Given the description of an element on the screen output the (x, y) to click on. 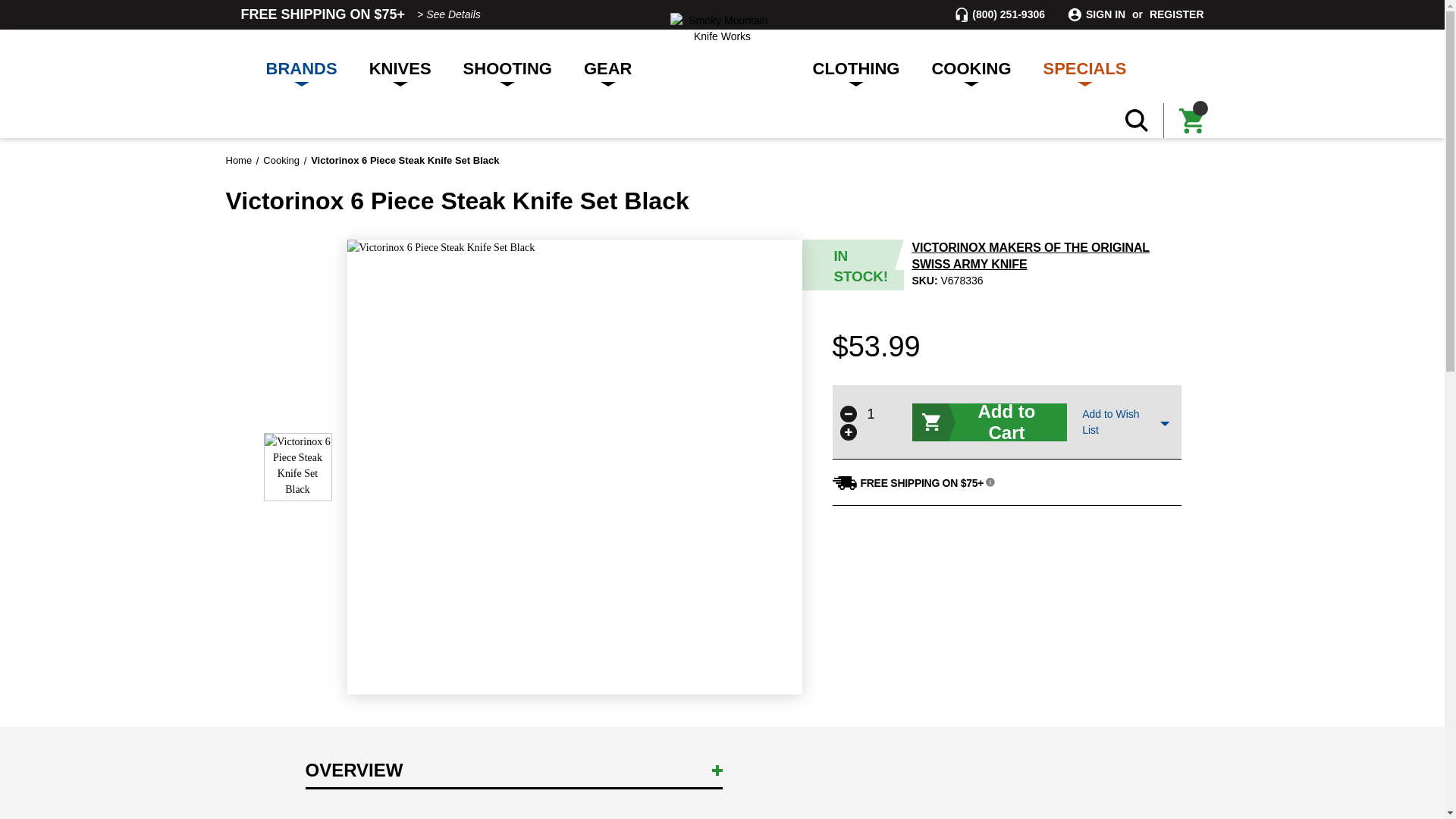
SIGN IN (1105, 14)
Smoky Mountain Knife Works (721, 29)
REGISTER (1177, 14)
BRANDS (301, 66)
KNIVES (400, 66)
Victorinox 6 Piece Steak Knife Set Black (296, 467)
1 (871, 413)
SHOOTING (507, 66)
